Given the description of an element on the screen output the (x, y) to click on. 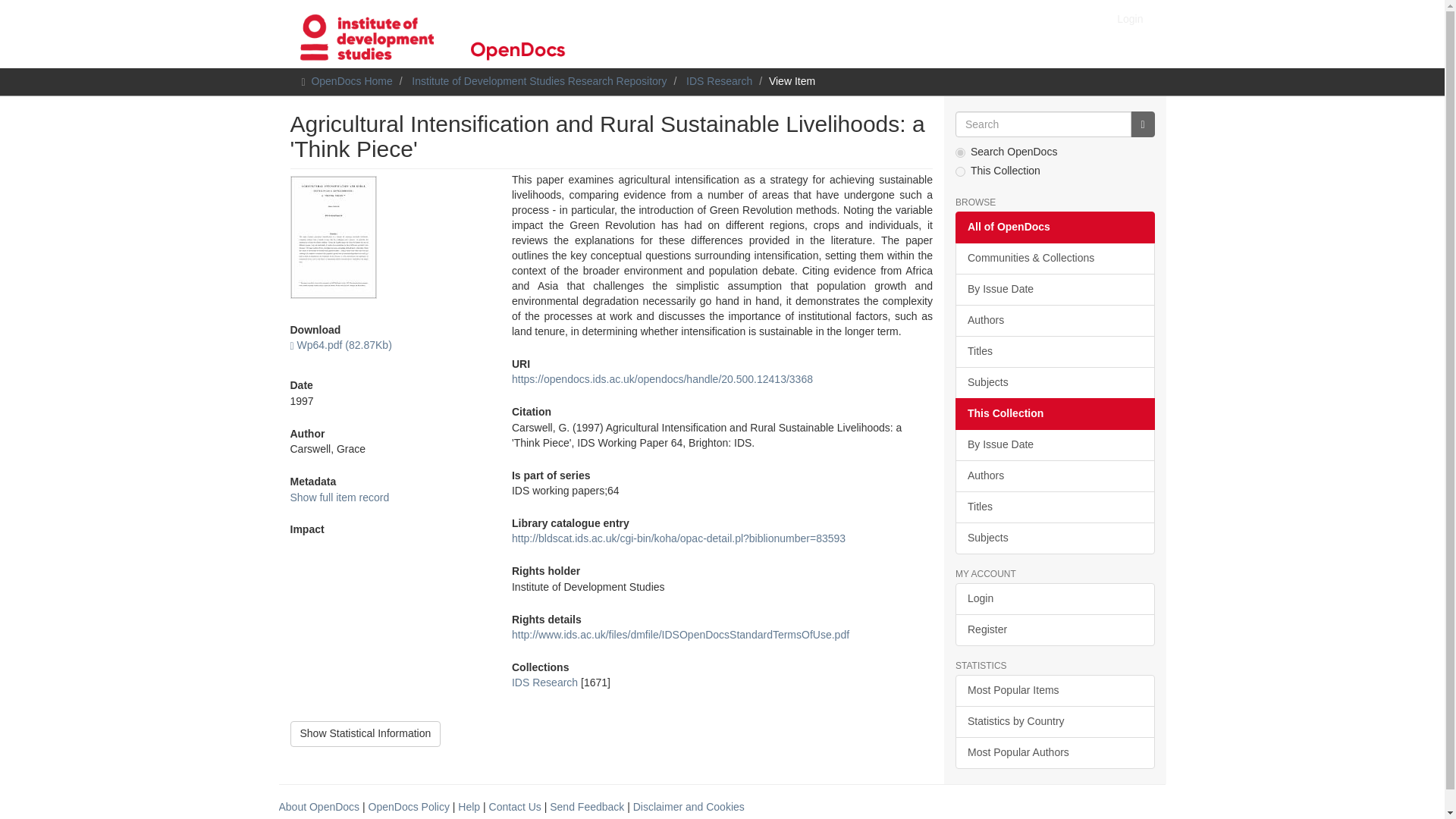
Show Statistical Information (365, 733)
OpenDocs Home (351, 80)
Show full item record (338, 497)
Subjects (1054, 382)
By Issue Date (1054, 289)
Login (1129, 18)
By Issue Date (1054, 445)
Subjects (1054, 538)
Institute of Development Studies Research Repository (539, 80)
Go (1142, 124)
This Collection (1054, 413)
All of OpenDocs (1054, 227)
IDS Research (545, 682)
IDS Research (718, 80)
Titles (1054, 507)
